Given the description of an element on the screen output the (x, y) to click on. 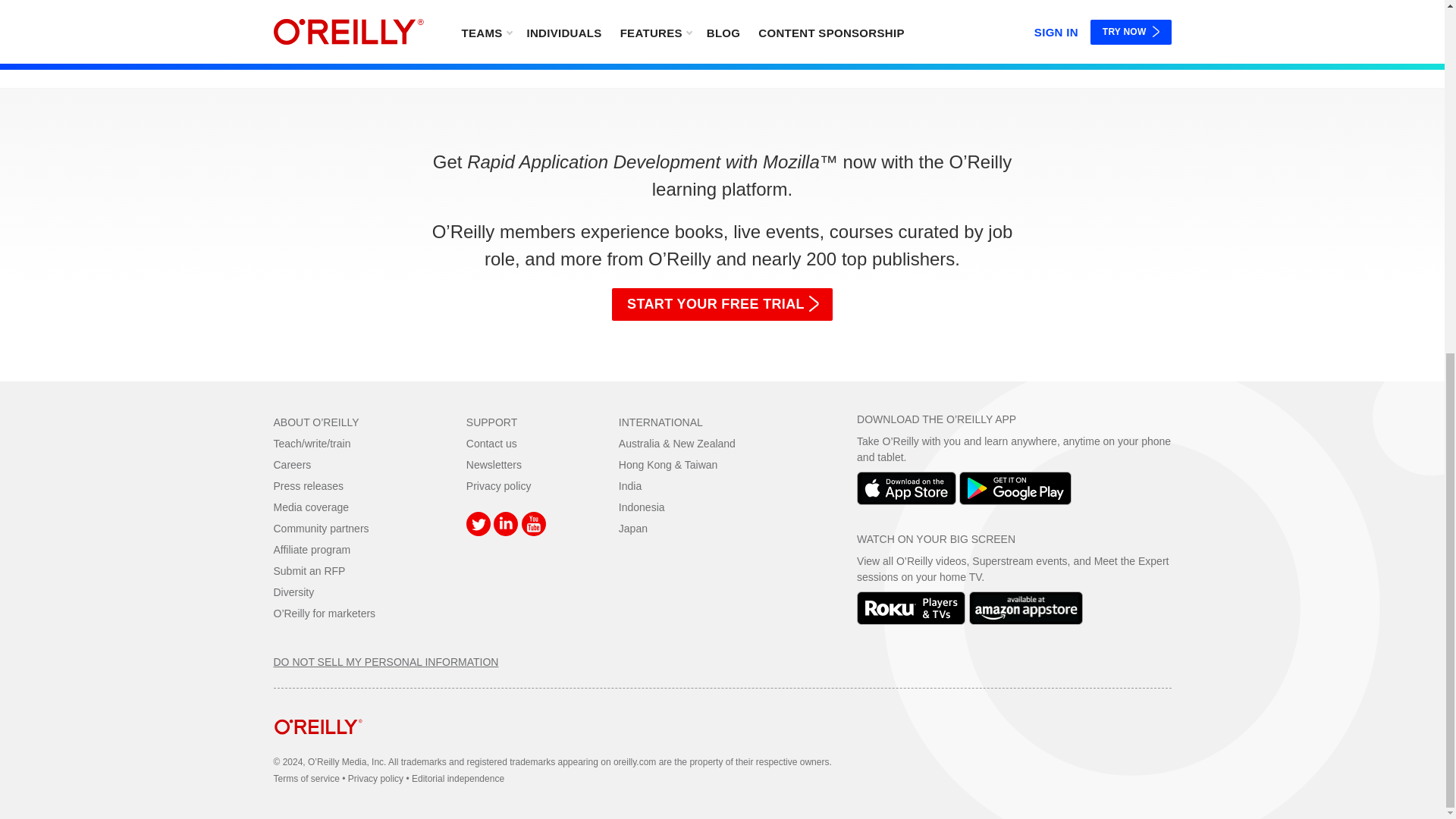
Privacy policy (498, 485)
Careers (292, 464)
SUPPORT (490, 422)
START YOUR FREE TRIAL (721, 304)
Contact us (490, 443)
Community partners (320, 528)
Newsletters (493, 464)
Submit an RFP (309, 571)
Media coverage (311, 507)
Diversity (293, 592)
home page (317, 745)
Press releases (308, 485)
Affiliate program (311, 549)
